Given the description of an element on the screen output the (x, y) to click on. 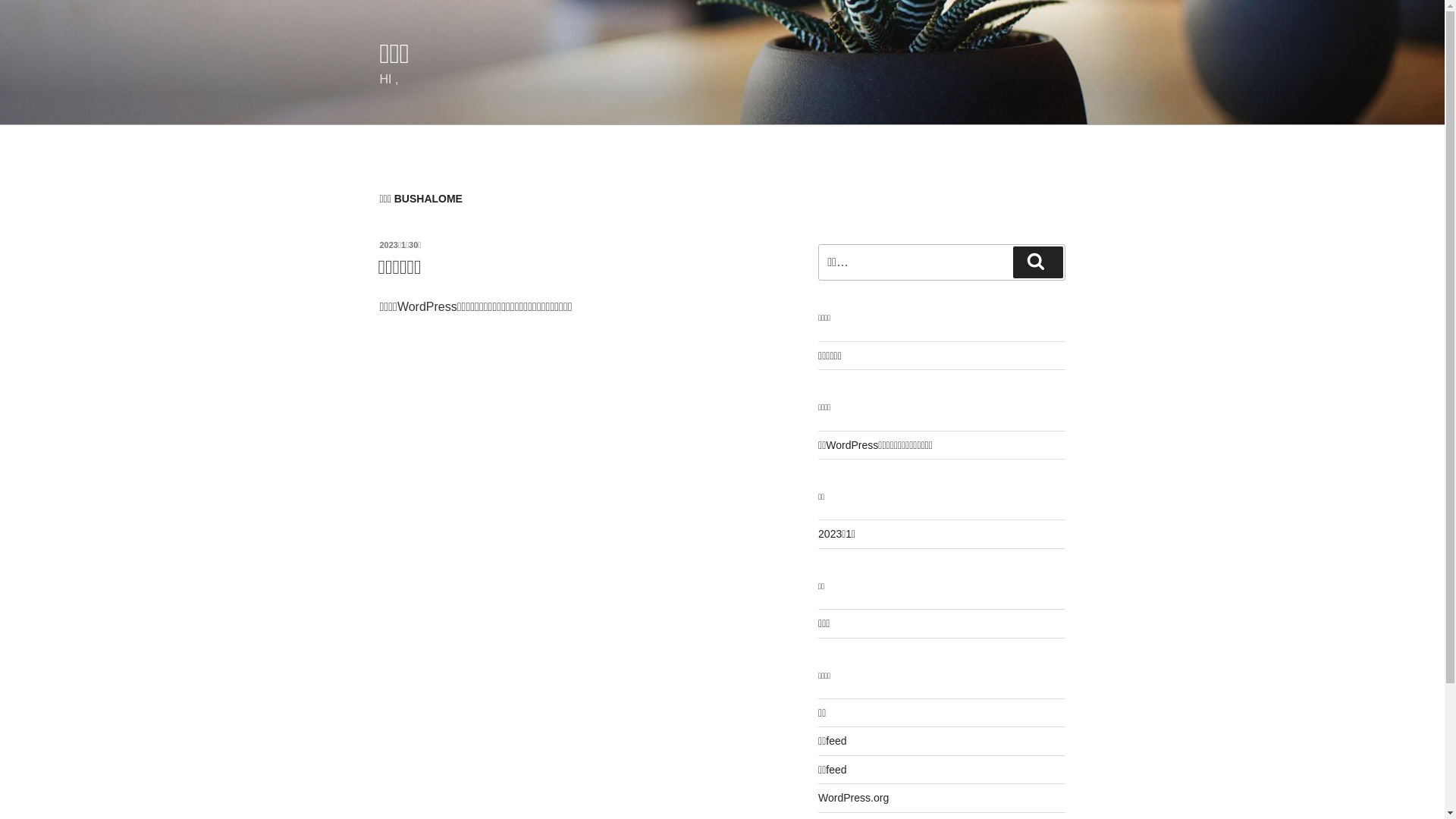
WordPress.org Element type: text (853, 797)
